Given the description of an element on the screen output the (x, y) to click on. 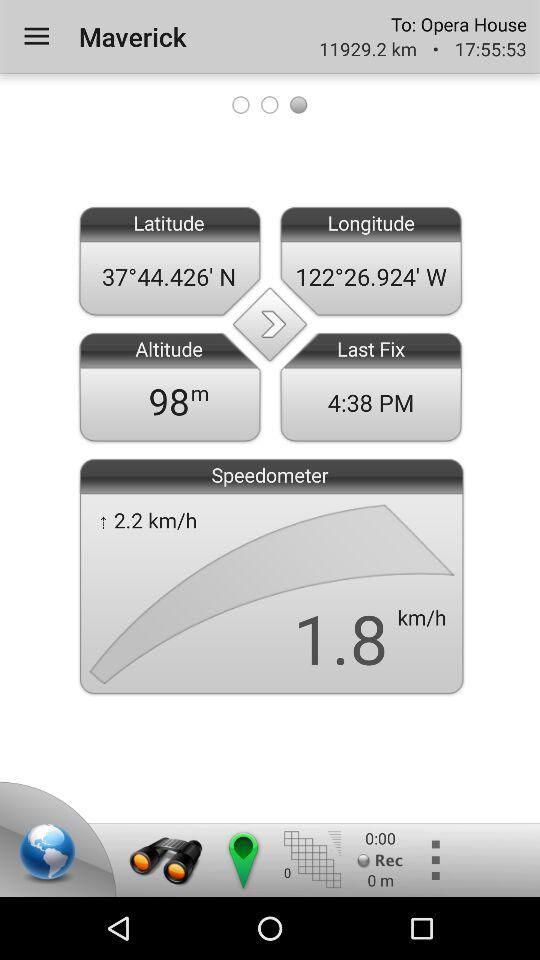
location (51, 855)
